Given the description of an element on the screen output the (x, y) to click on. 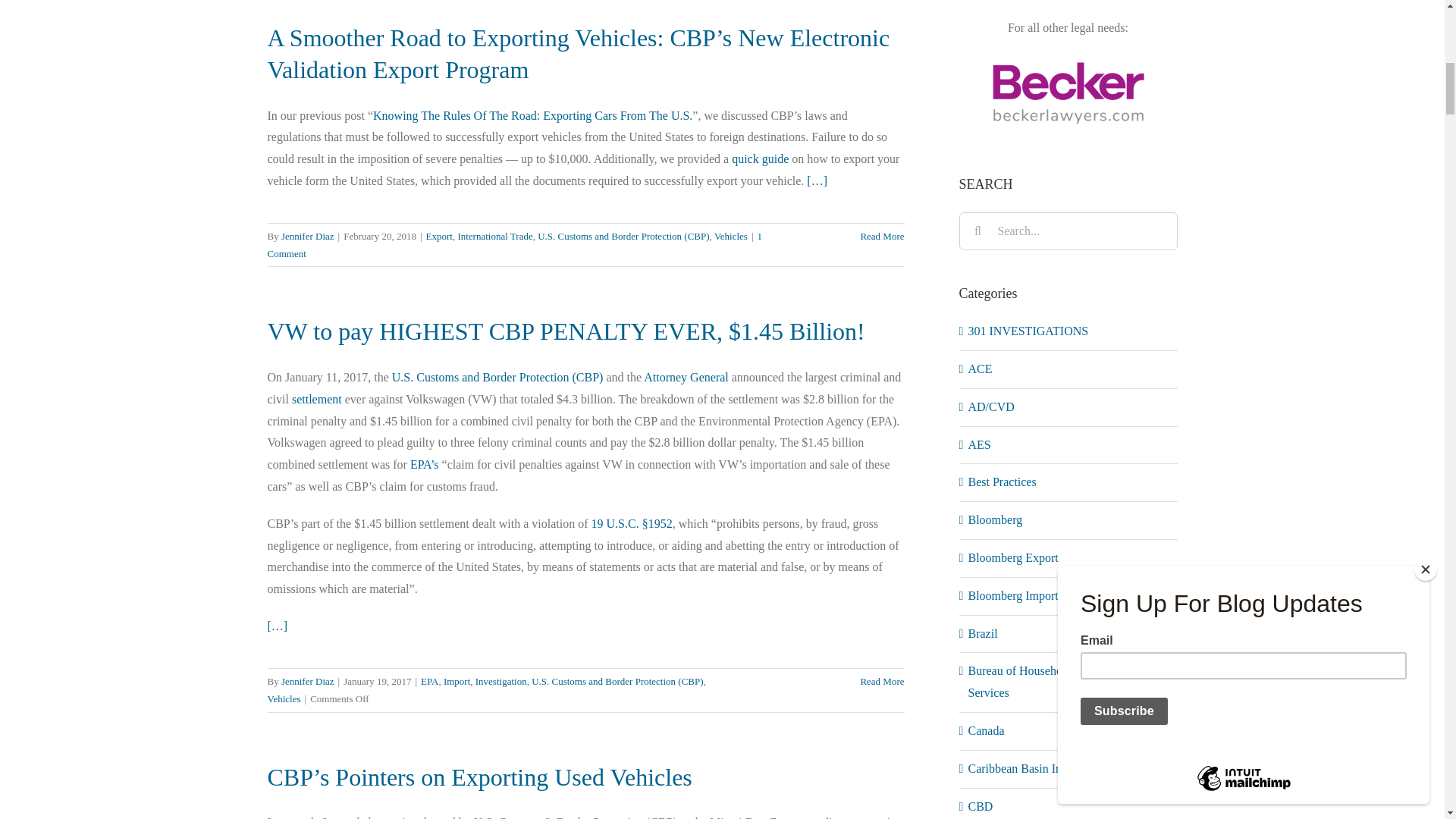
Posts by Jennifer Diaz (307, 235)
Posts by Jennifer Diaz (307, 681)
